Given the description of an element on the screen output the (x, y) to click on. 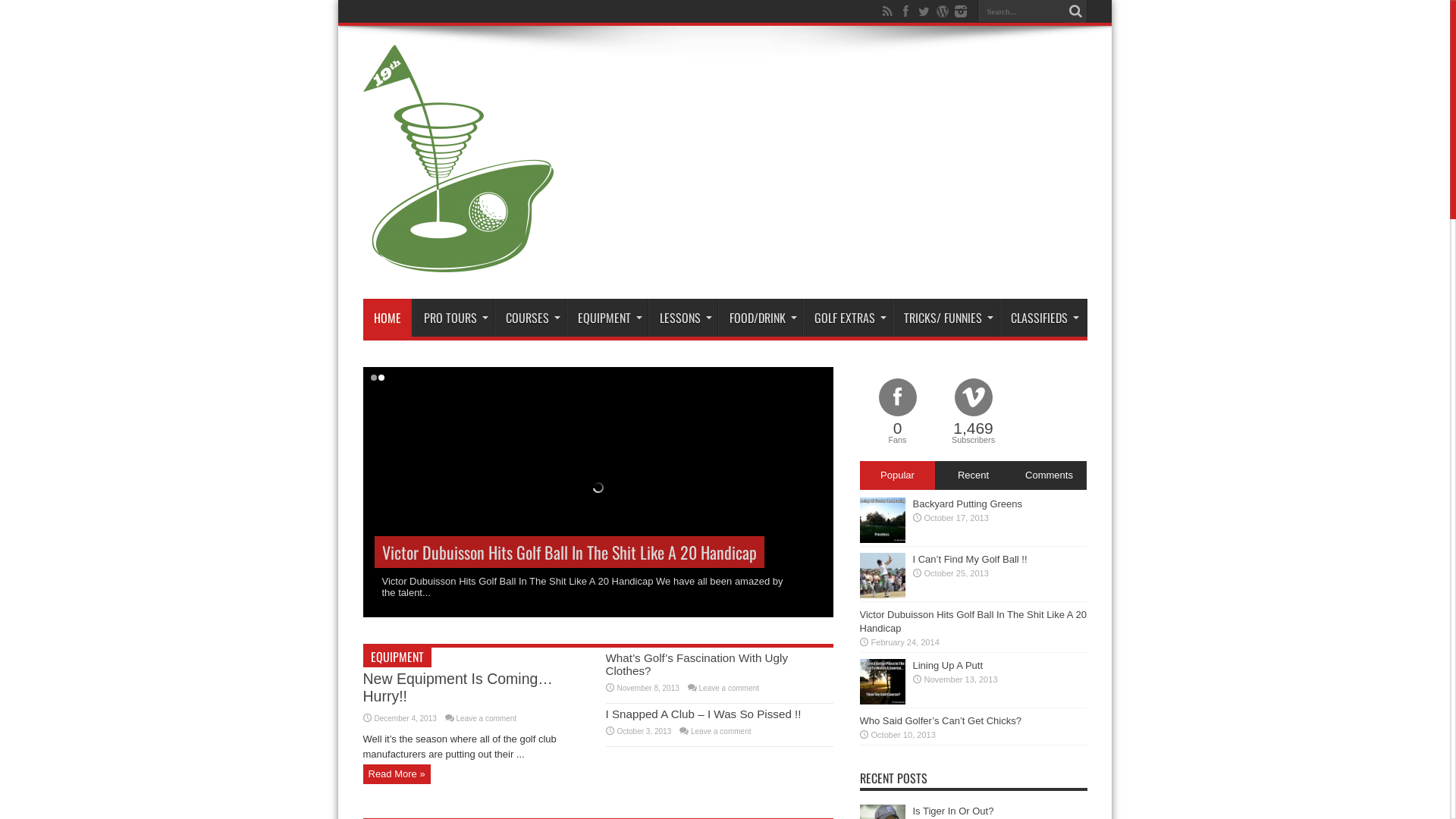
Popular Element type: text (897, 475)
Permalink to Backyard Putting Greens Element type: hover (882, 539)
LESSONS Element type: text (681, 317)
EQUIPMENT Element type: text (396, 656)
Backyard Putting Greens Element type: text (967, 503)
0
Fans Element type: text (897, 411)
COURSES Element type: text (529, 317)
19th Hole Golf Club Element type: hover (457, 260)
FOOD/DRINK Element type: text (759, 317)
1 Element type: text (373, 377)
1,469
Subscribers Element type: text (973, 411)
TRICKS/ FUNNIES Element type: text (944, 317)
Comments Element type: text (1048, 475)
Leave a comment Element type: text (720, 731)
CLASSIFIEDS Element type: text (1041, 317)
HOME Element type: text (386, 317)
PRO TOURS Element type: text (452, 317)
Search Element type: text (1075, 11)
Leave a comment Element type: text (729, 688)
Leave a comment Element type: text (486, 718)
Permalink to Lining Up A Putt Element type: hover (882, 700)
Lining Up A Putt Element type: text (948, 665)
GOLF EXTRAS Element type: text (846, 317)
Is Tiger In Or Out? Element type: text (953, 810)
EQUIPMENT Element type: text (605, 317)
Recent Element type: text (972, 475)
2 Element type: text (380, 377)
